Given the description of an element on the screen output the (x, y) to click on. 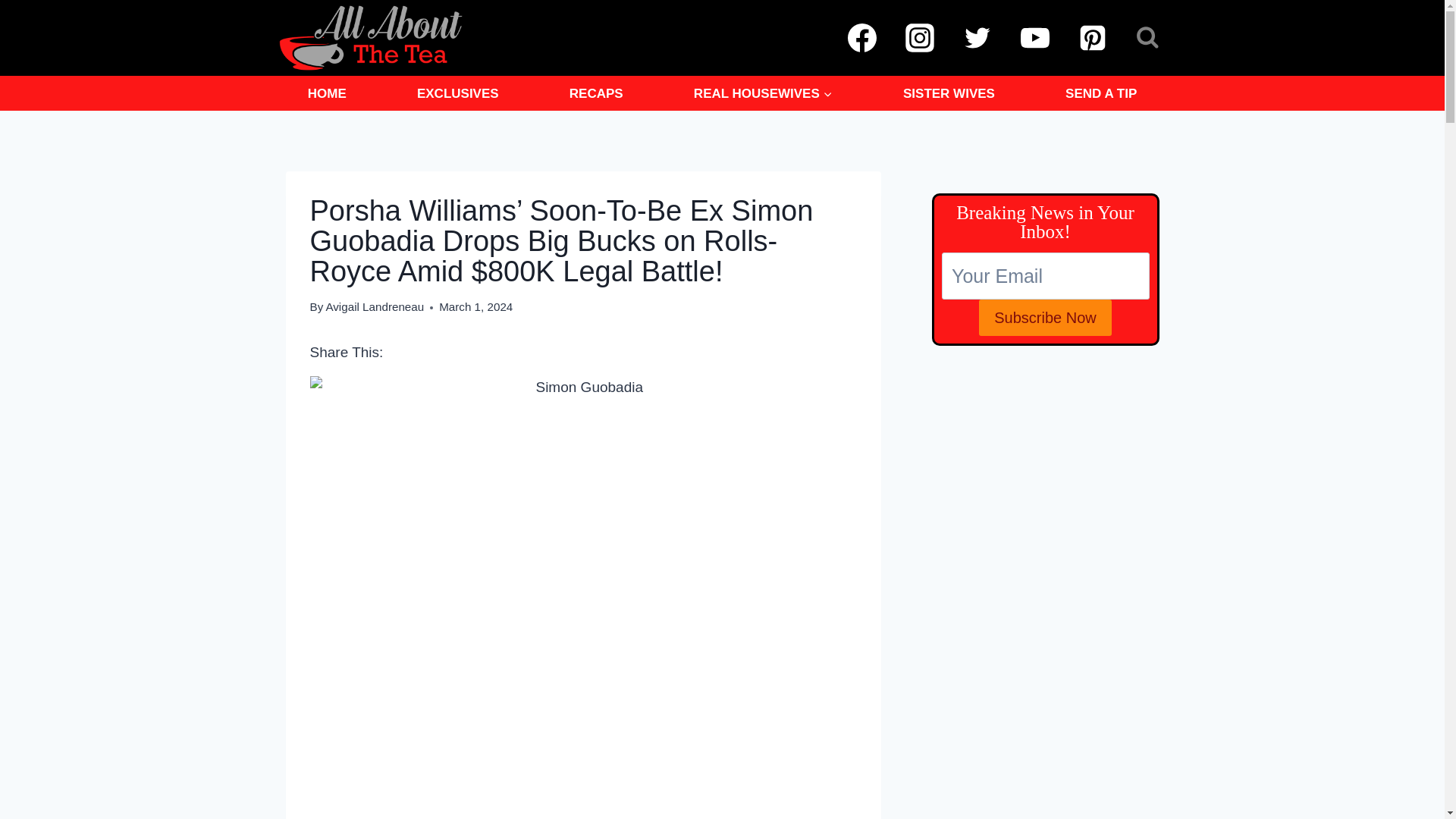
SEND A TIP (1100, 93)
HOME (326, 93)
Avigail Landreneau (373, 306)
RECAPS (596, 93)
EXCLUSIVES (457, 93)
REAL HOUSEWIVES (762, 93)
SISTER WIVES (948, 93)
